Given the description of an element on the screen output the (x, y) to click on. 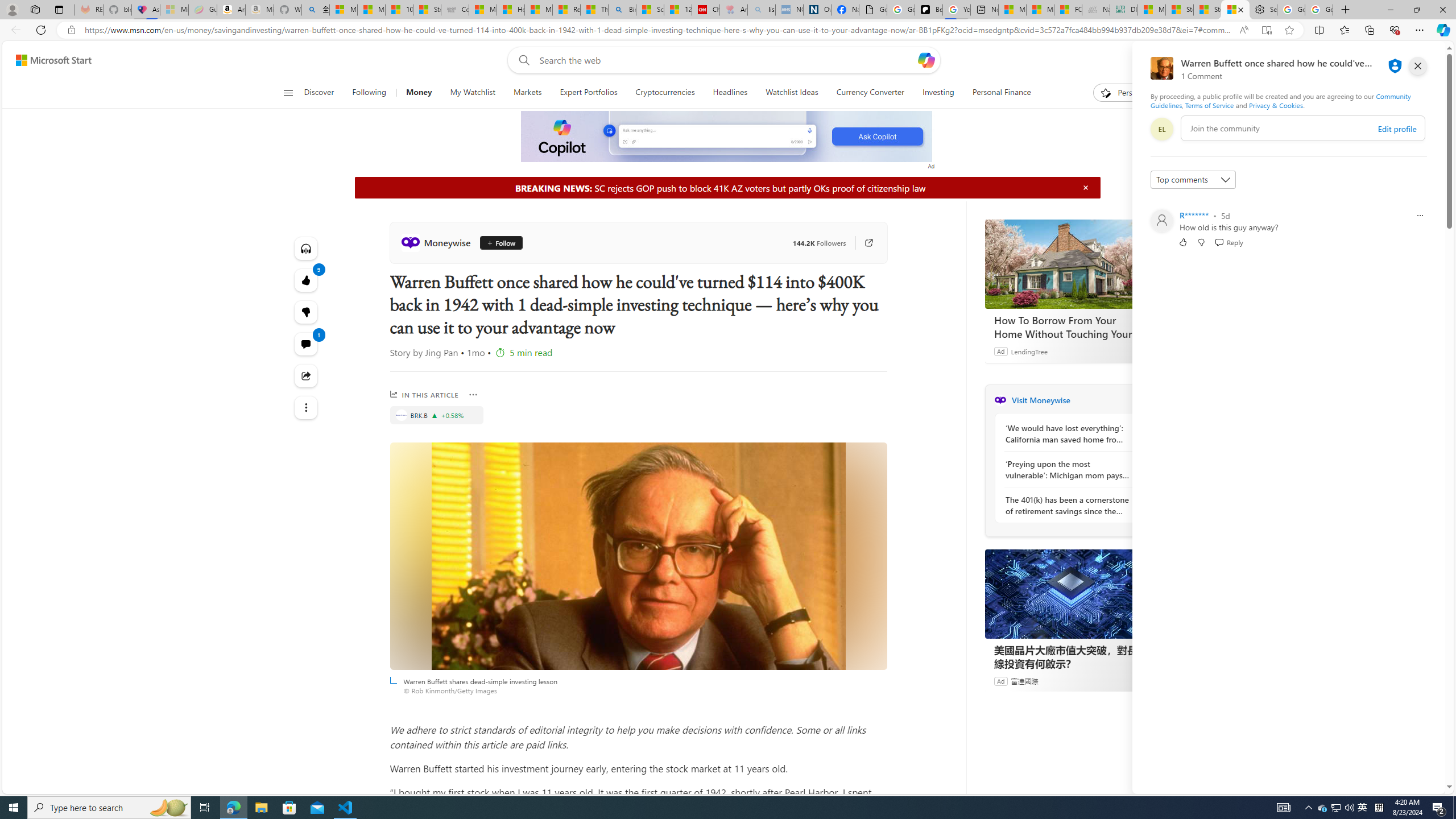
Bing (621, 9)
To get missing image descriptions, open the context menu. (726, 136)
Expert Portfolios (588, 92)
Be Smart | creating Science videos | Patreon (928, 9)
Open settings (1420, 60)
Cryptocurrencies (664, 92)
Profile Picture (1161, 220)
Profile Picture (1161, 220)
